Given the description of an element on the screen output the (x, y) to click on. 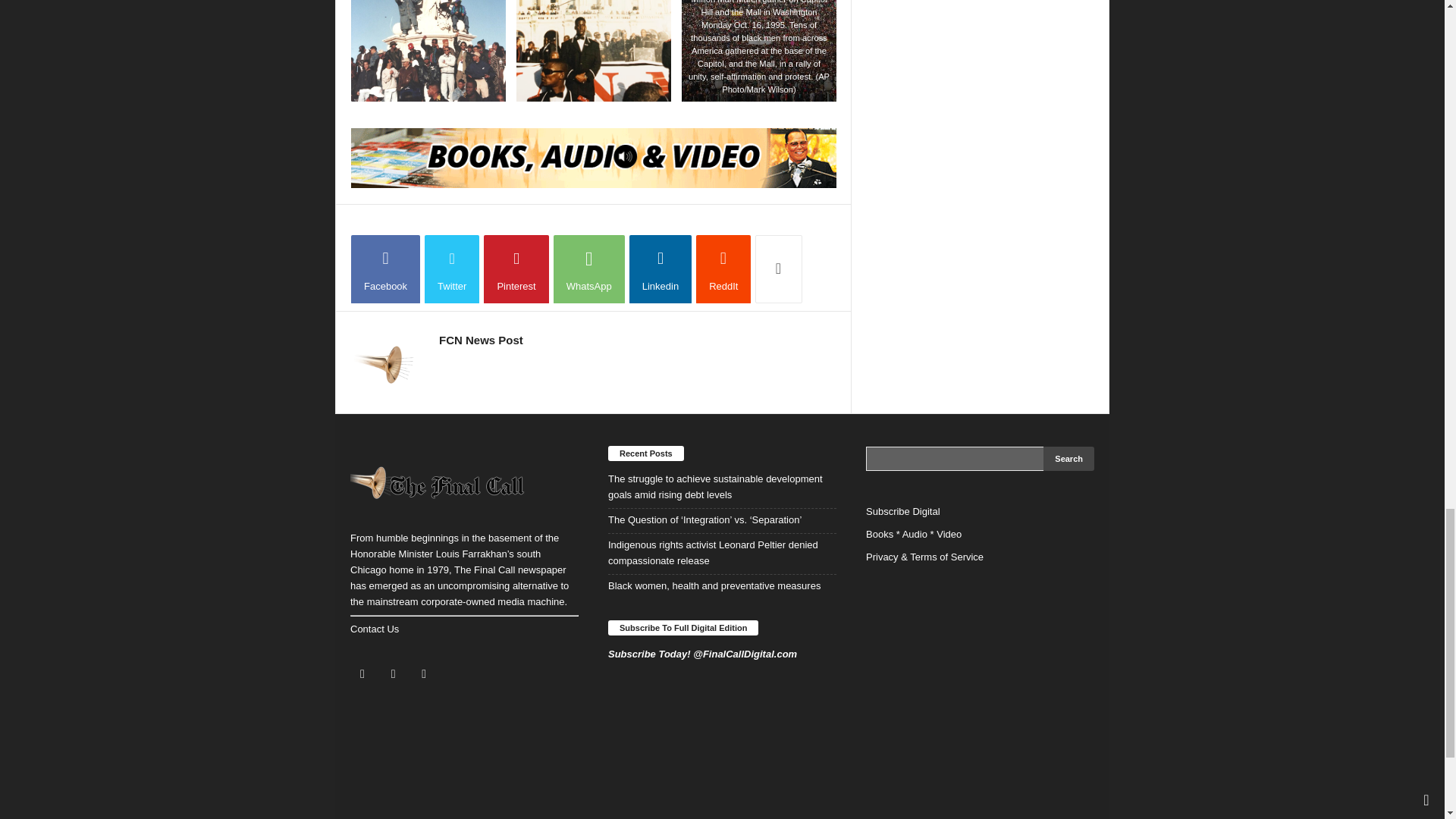
Search (1068, 458)
